Given the description of an element on the screen output the (x, y) to click on. 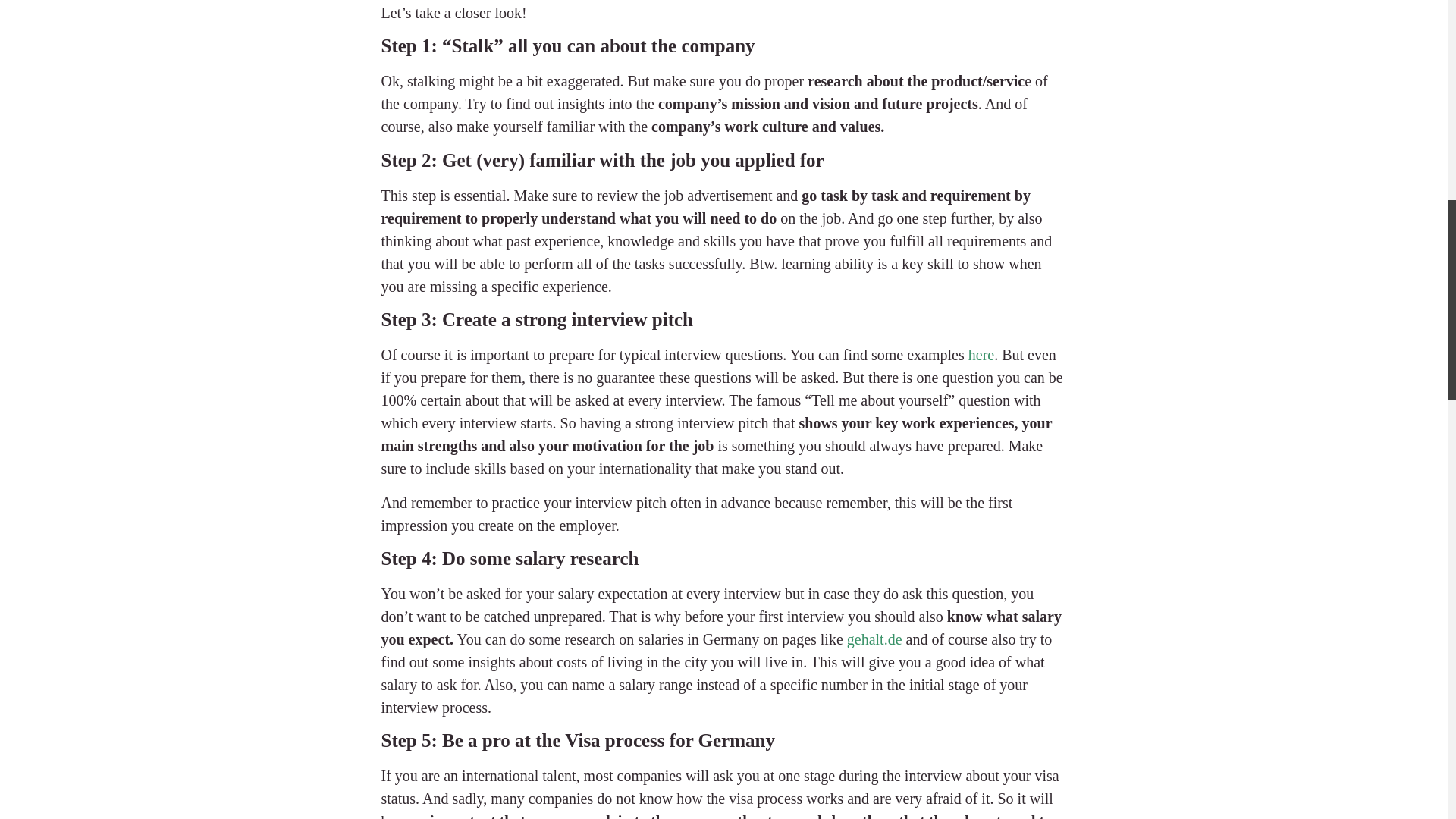
gehalt.de (872, 638)
here (981, 354)
